Given the description of an element on the screen output the (x, y) to click on. 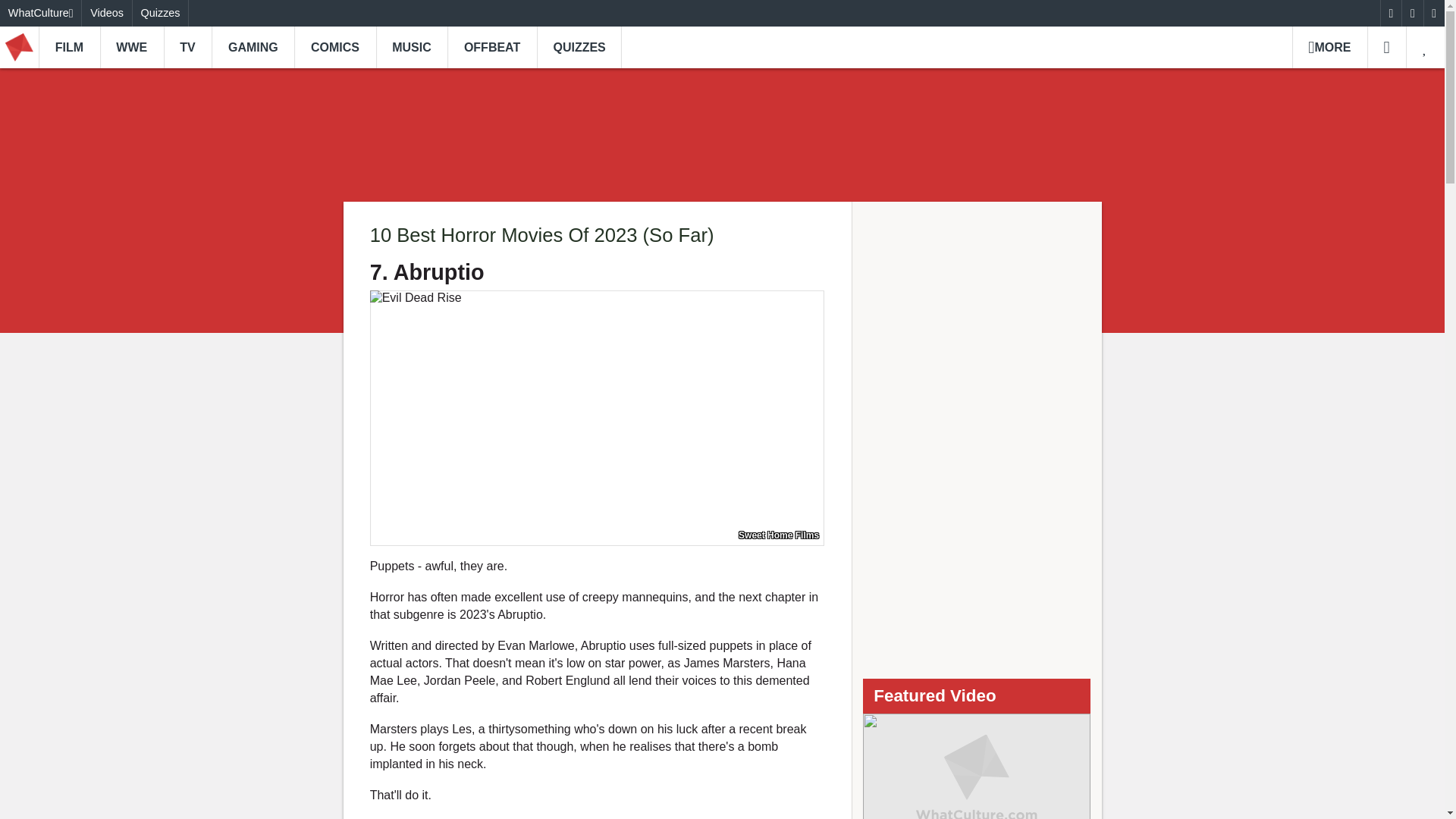
MUSIC (411, 46)
Featured Video (976, 766)
GAMING (252, 46)
Quizzes (160, 13)
QUIZZES (580, 46)
TV (187, 46)
MORE (1329, 46)
Videos (106, 13)
FILM (69, 46)
OFFBEAT (491, 46)
